Given the description of an element on the screen output the (x, y) to click on. 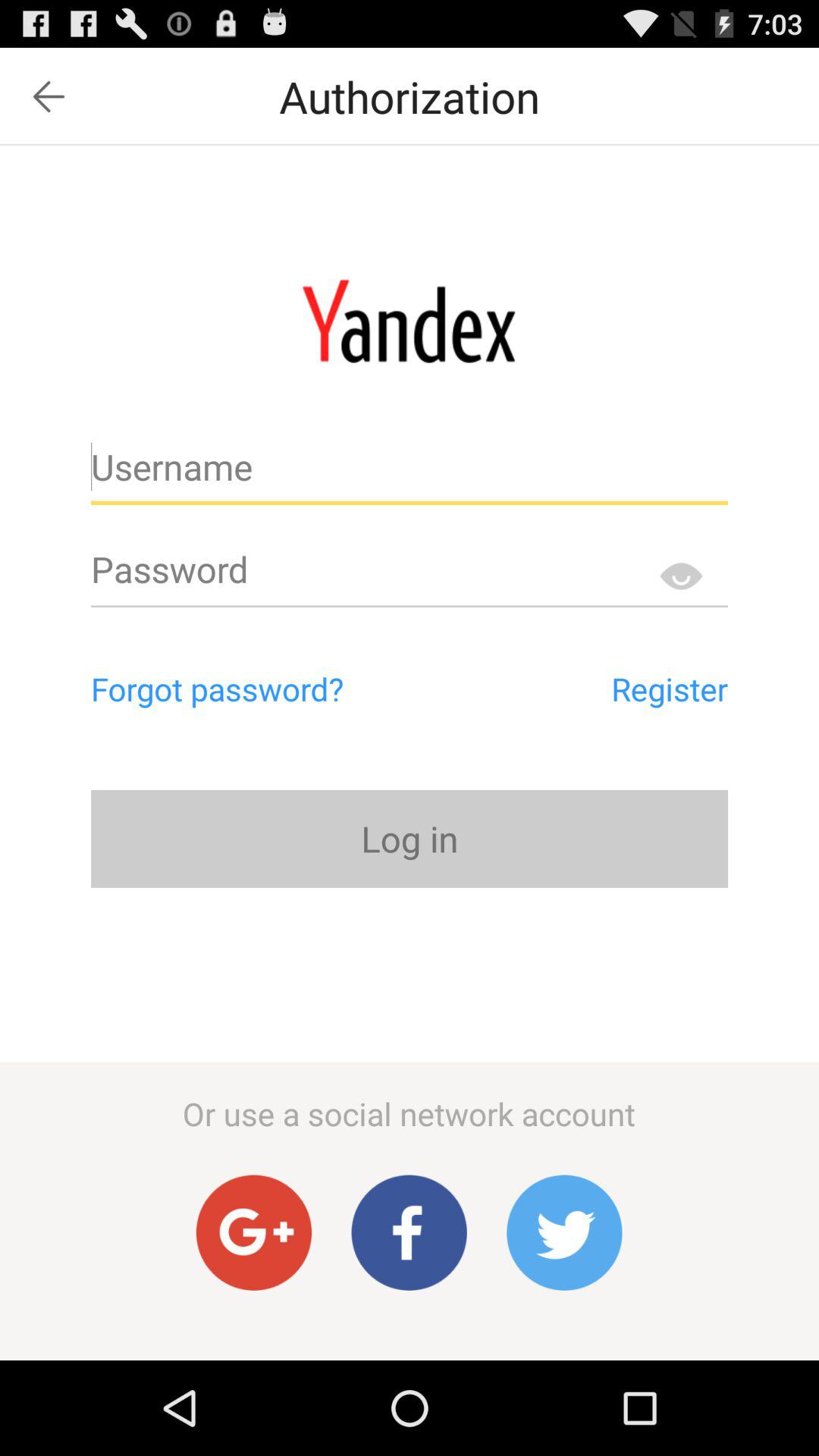
choose the app to the right of the forgot password? (600, 688)
